Given the description of an element on the screen output the (x, y) to click on. 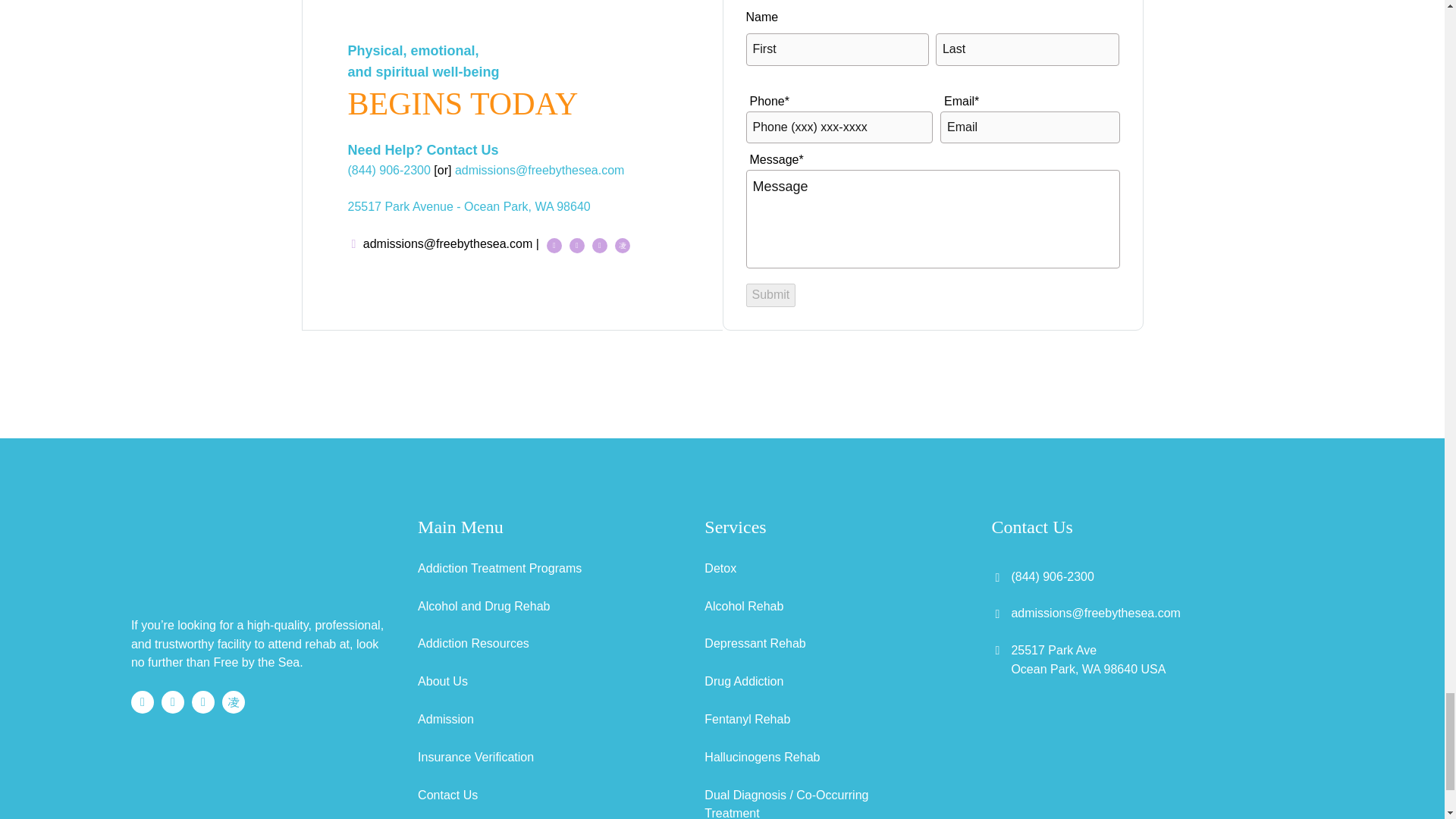
Facebook (142, 701)
Twitter (599, 243)
Instagram (622, 243)
Pinterest (172, 701)
Facebook (554, 243)
Instagram (233, 701)
Pinterest (577, 243)
Twitter (203, 701)
Submit (770, 295)
